Given the description of an element on the screen output the (x, y) to click on. 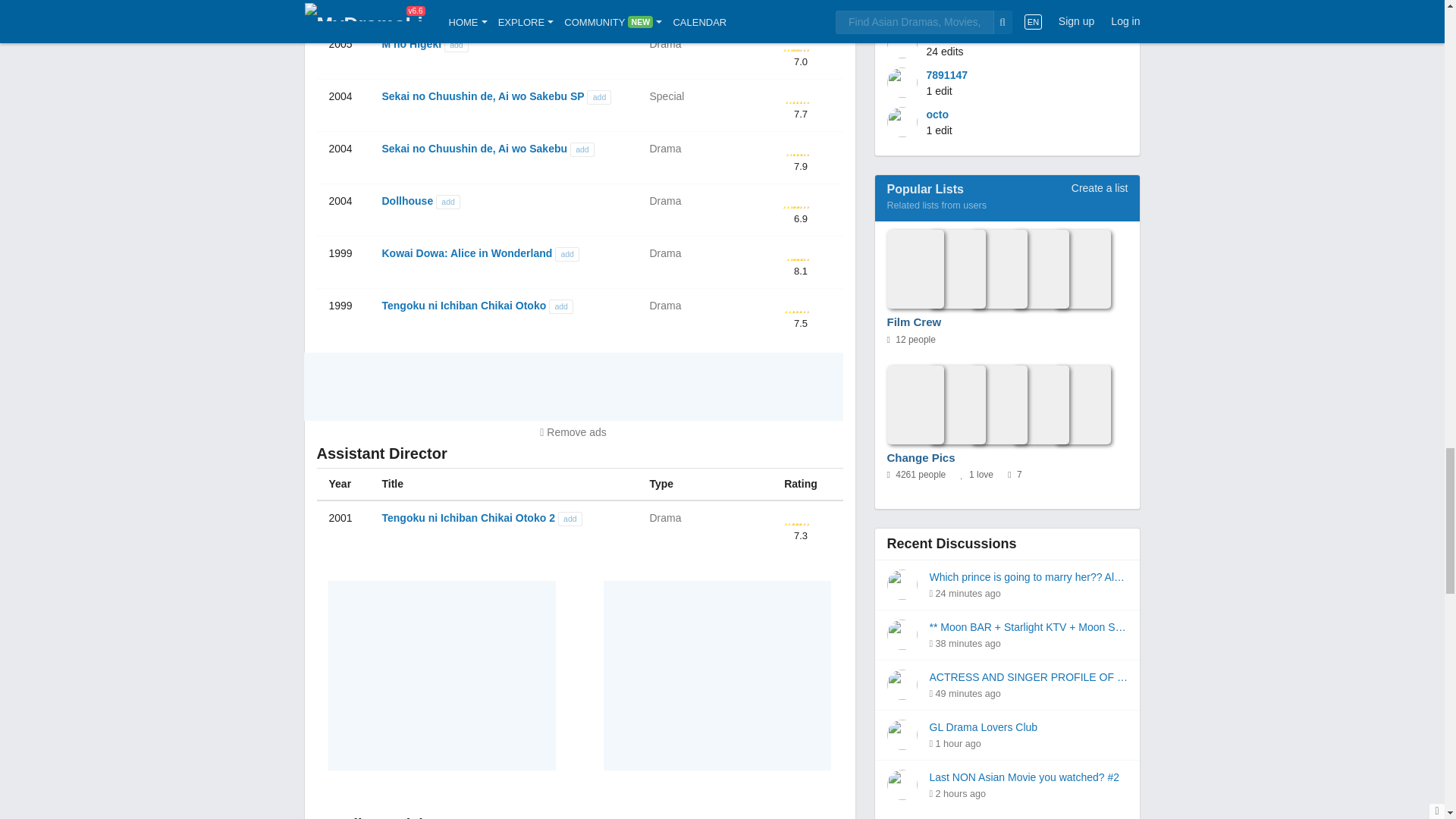
Film Crew (914, 322)
Change Pics (920, 458)
Change Pics (991, 405)
Film Crew (991, 270)
